Given the description of an element on the screen output the (x, y) to click on. 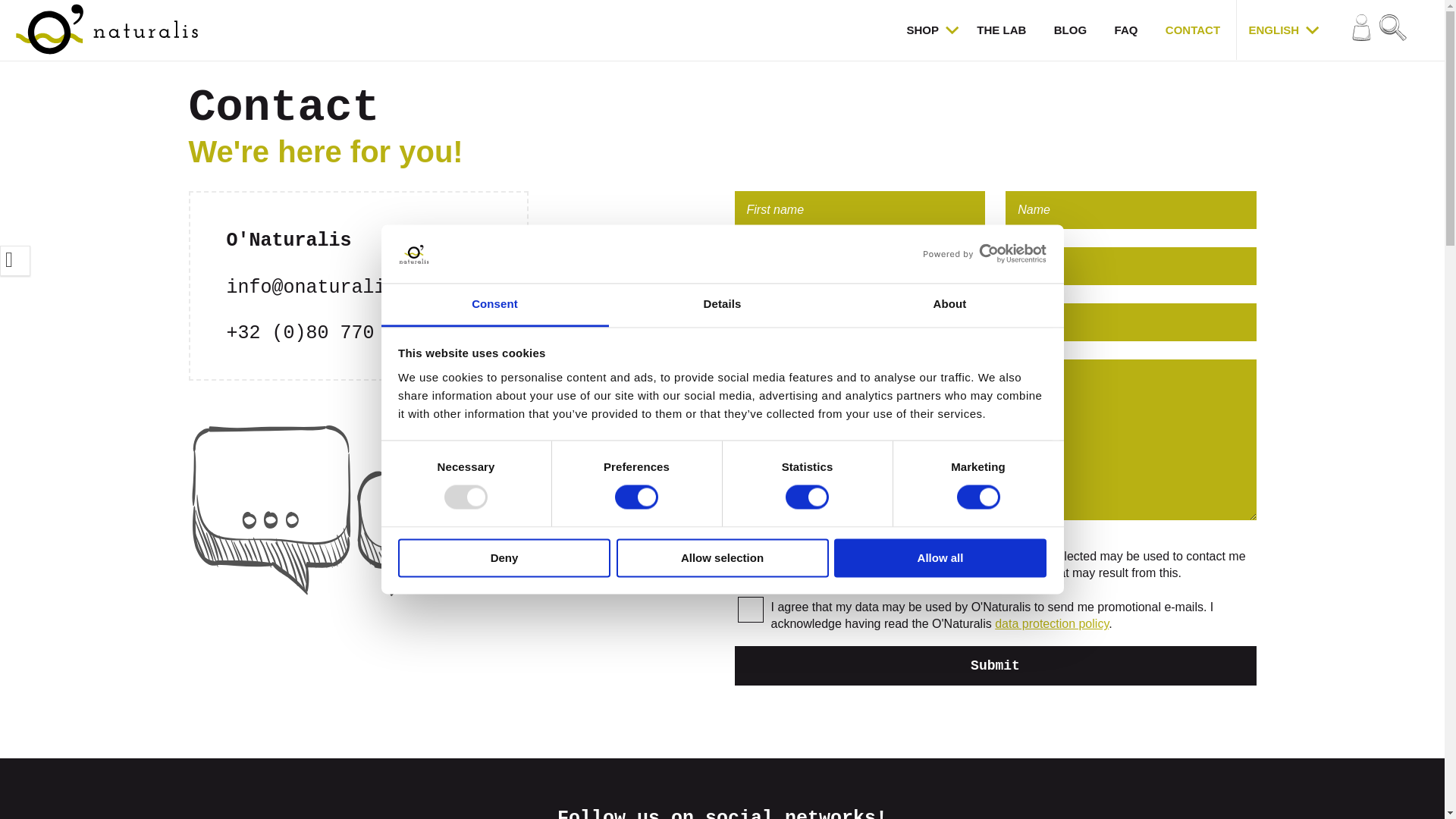
1 (749, 609)
Consent (494, 304)
Details (721, 304)
Submit (994, 665)
About (948, 304)
O'Naturalis (106, 30)
O'Naturalis - Organic and natural soaps and cosmetics - Logo (106, 29)
English (1269, 29)
